Given the description of an element on the screen output the (x, y) to click on. 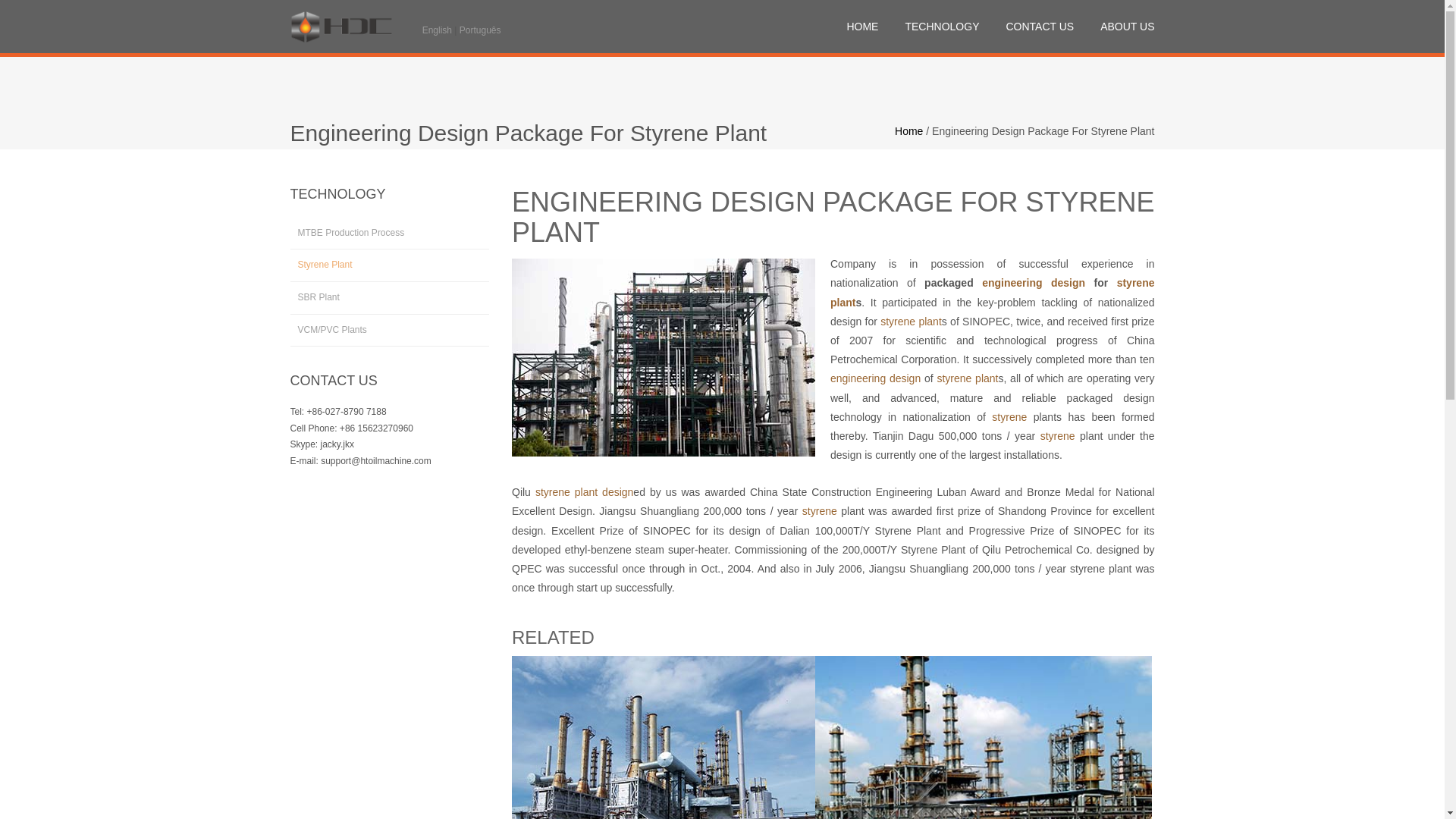
View all posts in engineering design (874, 378)
TECHNOLOGY (941, 26)
styrene (1058, 435)
styrene plant (991, 291)
View all posts in styrene plant (966, 378)
Styrene Plant (389, 265)
engineering design (1032, 282)
CONTACT US (1040, 26)
View all posts in styrene (1058, 435)
MTBE Production Process (389, 233)
styrene plant (911, 321)
View all posts in styrene plant (911, 321)
engineering design (874, 378)
styrene (819, 510)
View all posts in engineering design (1032, 282)
